Given the description of an element on the screen output the (x, y) to click on. 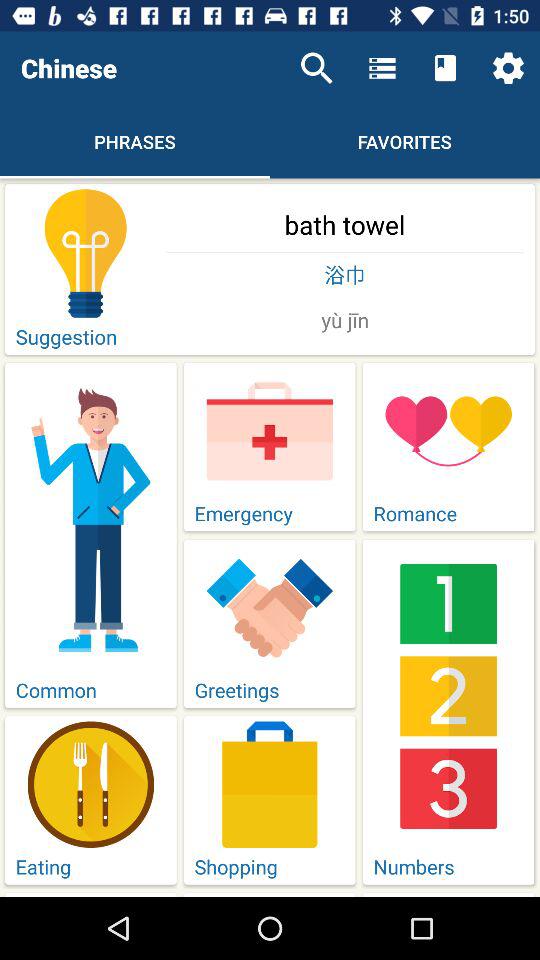
turn off the icon to the right of chinese item (316, 67)
